Given the description of an element on the screen output the (x, y) to click on. 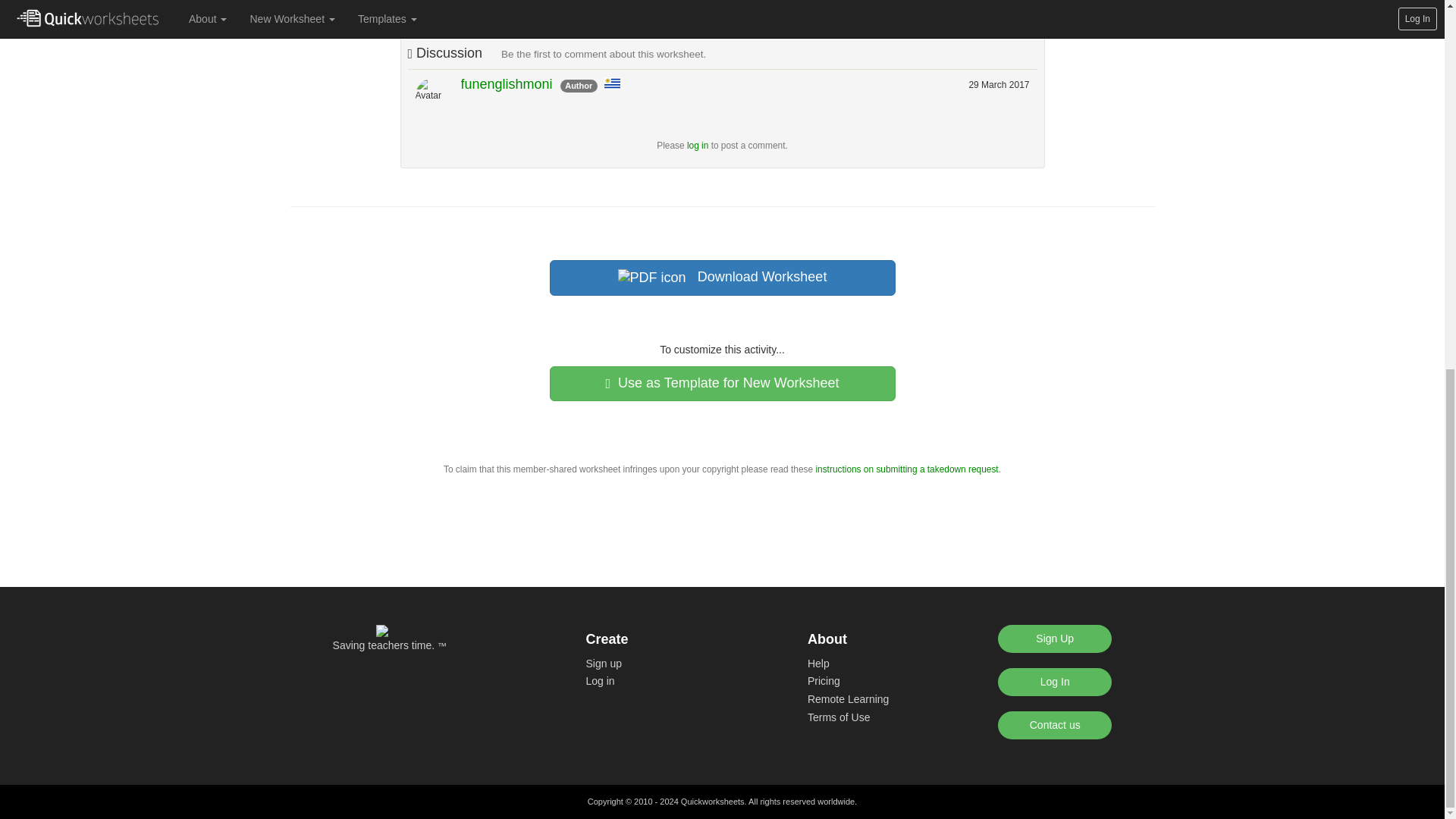
UY (612, 82)
